Given the description of an element on the screen output the (x, y) to click on. 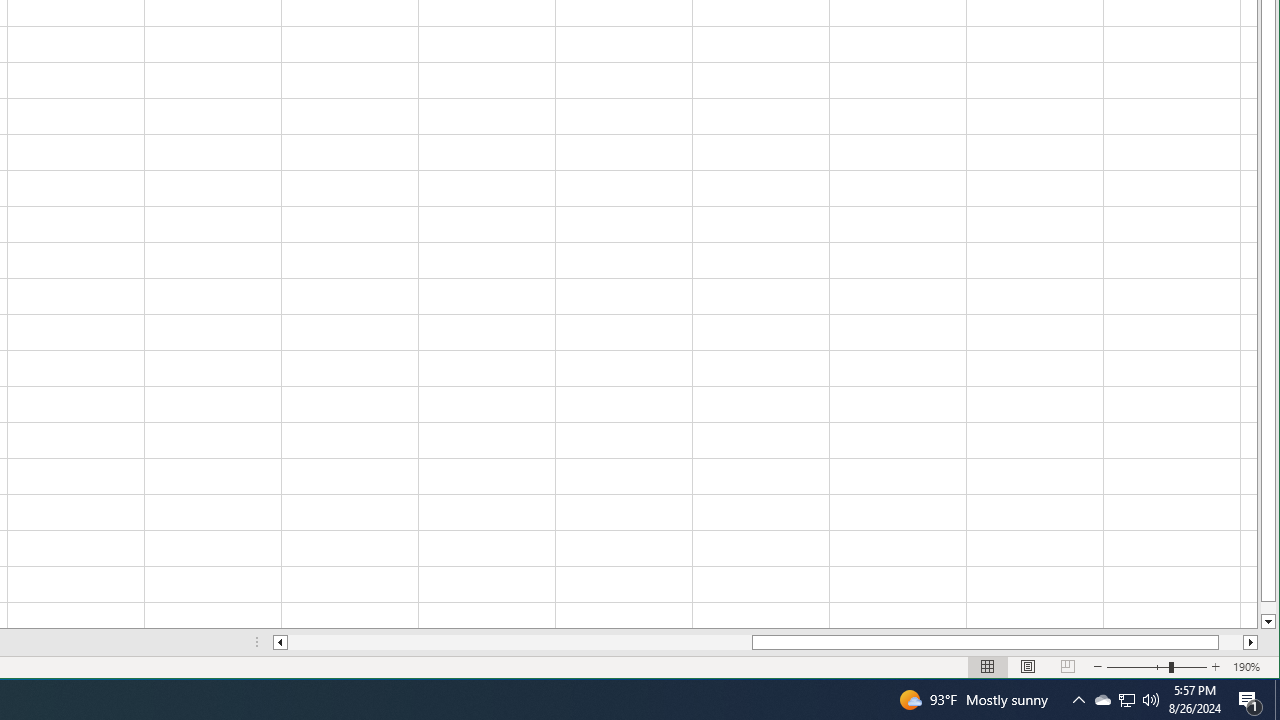
Action Center, 1 new notification (1102, 699)
Page left (1126, 699)
Show desktop (1250, 699)
